Given the description of an element on the screen output the (x, y) to click on. 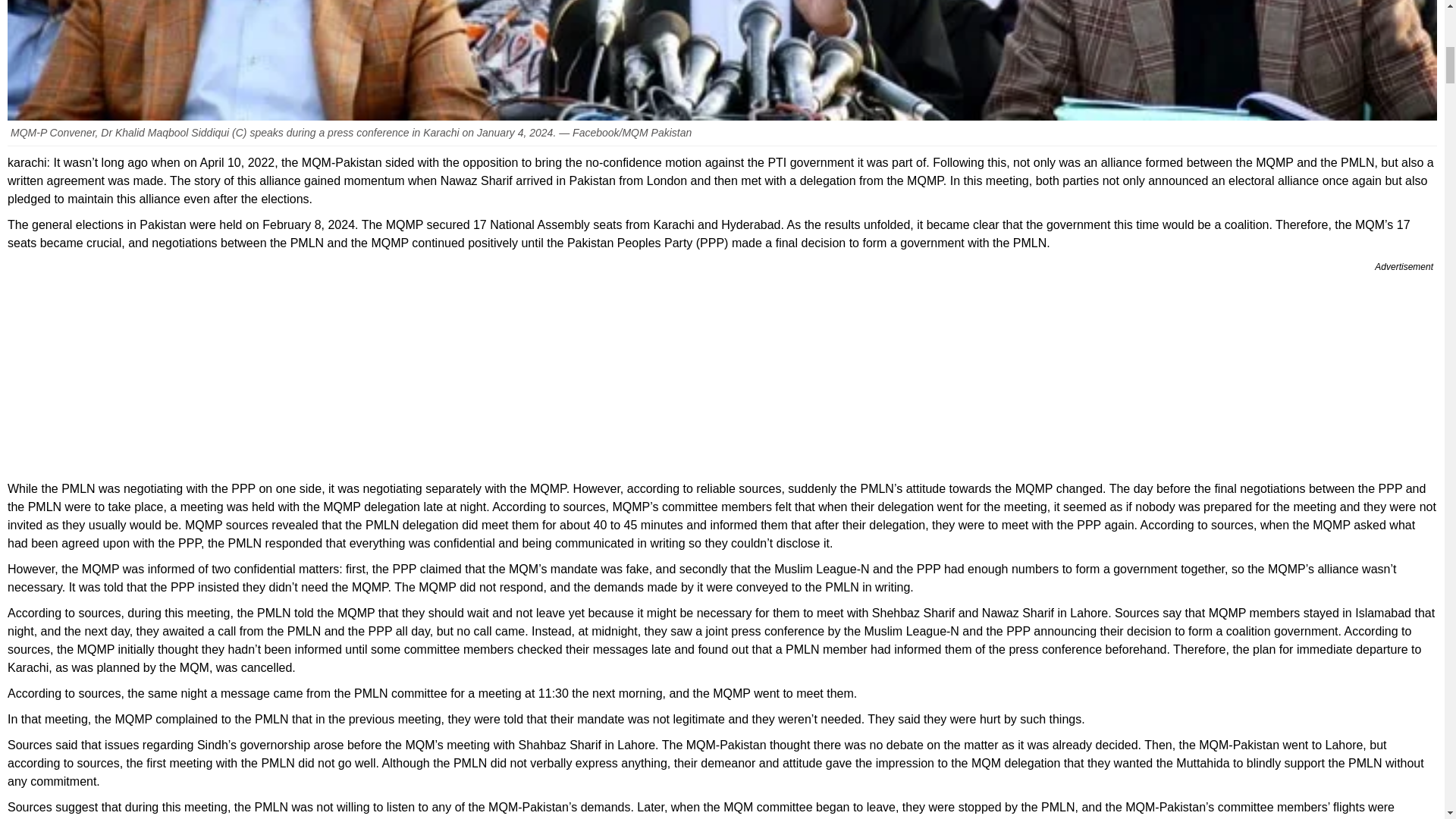
3rd party ad content (721, 371)
